Given the description of an element on the screen output the (x, y) to click on. 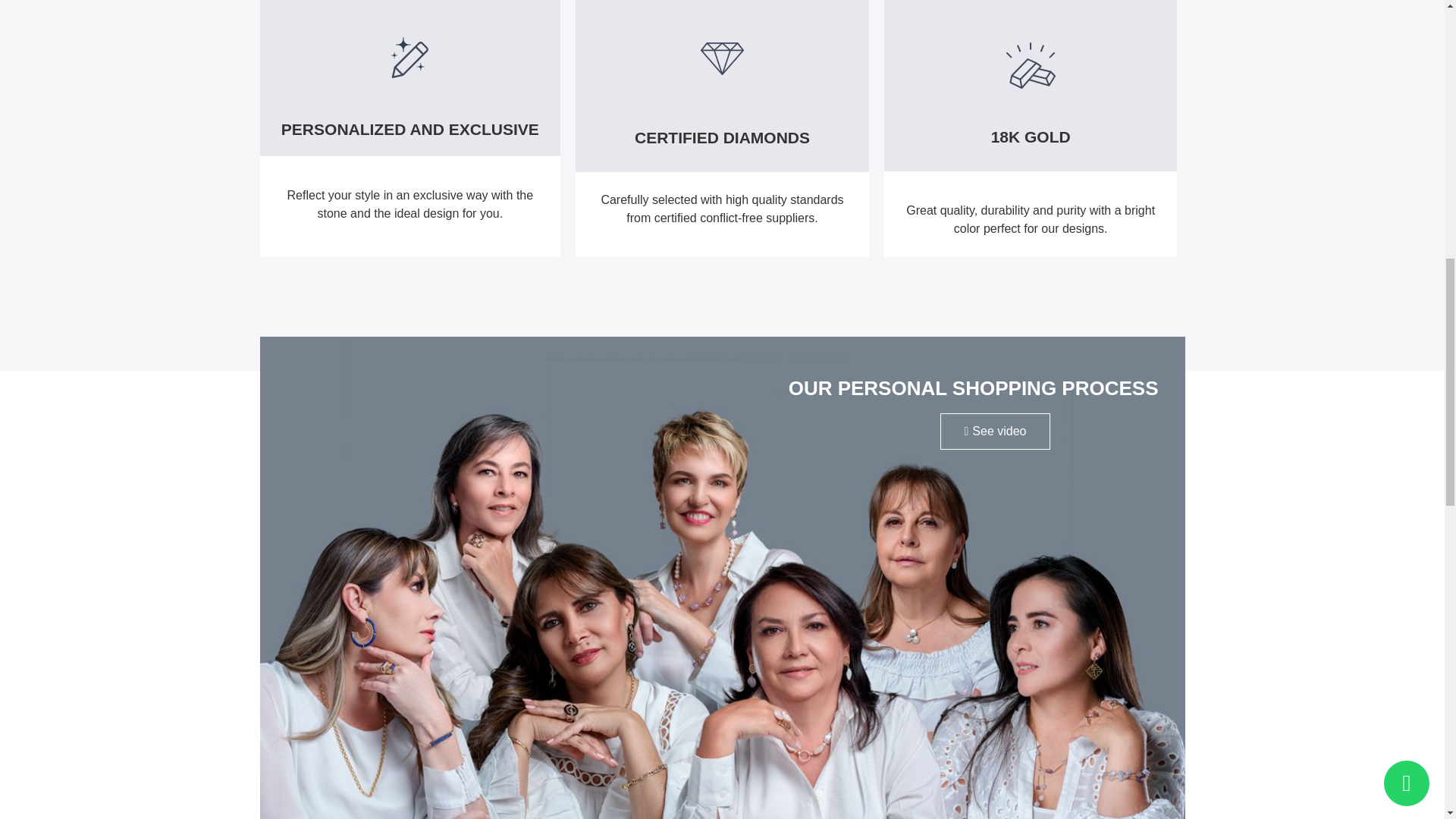
See video (994, 431)
